Given the description of an element on the screen output the (x, y) to click on. 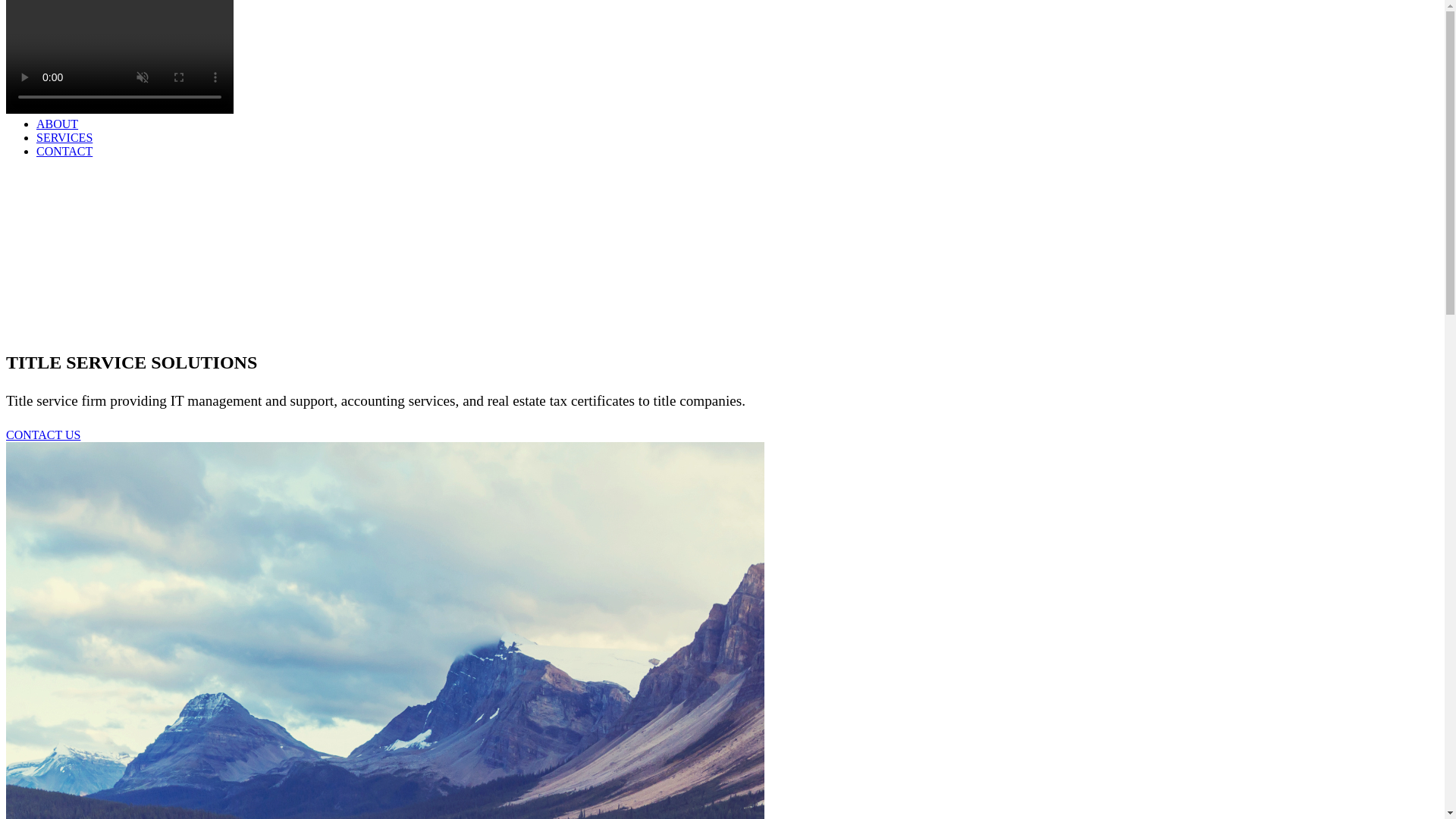
SERVICES (64, 137)
CONTACT US (42, 434)
ABOUT (57, 123)
CONTACT (64, 151)
